Given the description of an element on the screen output the (x, y) to click on. 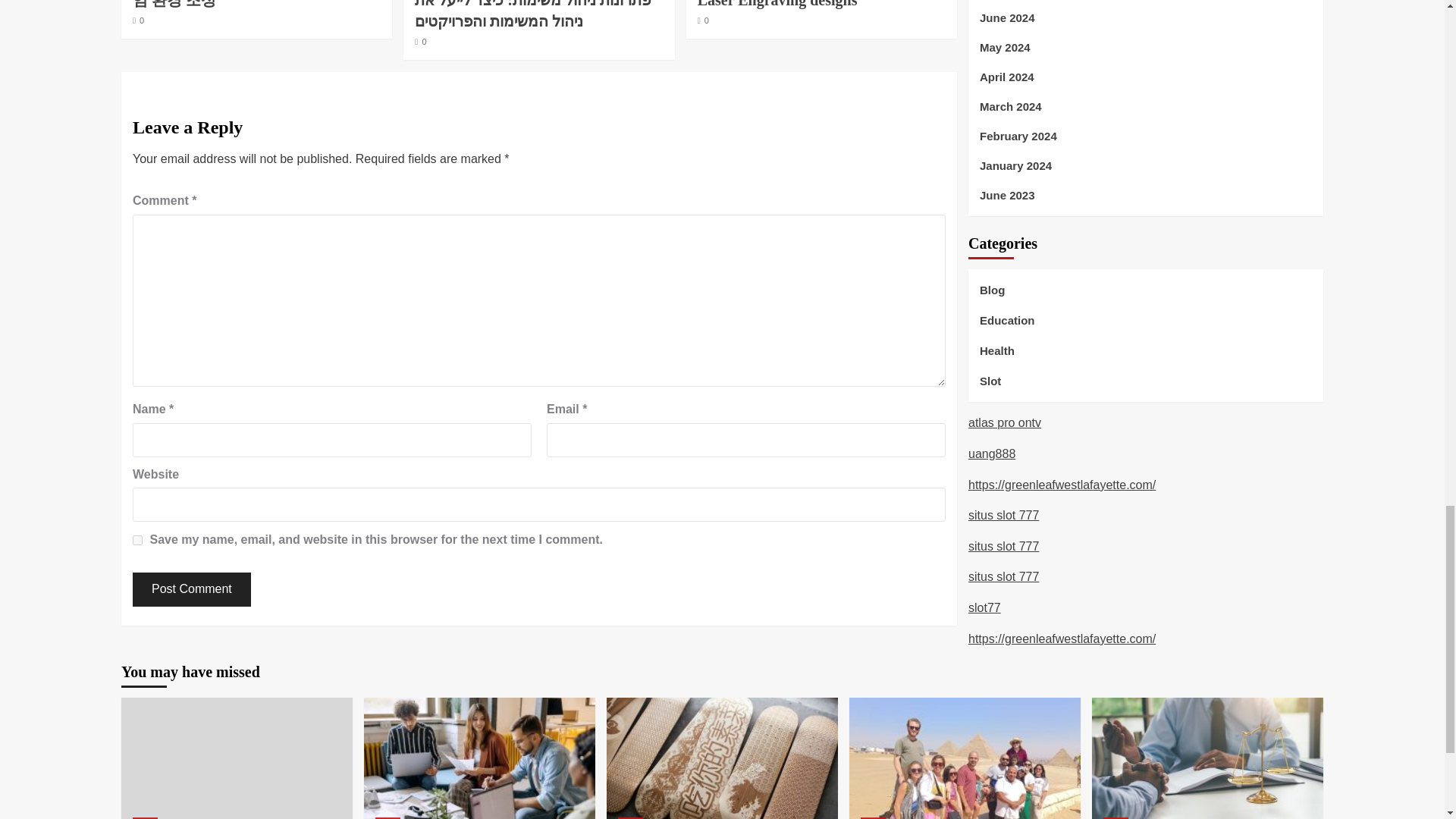
Transforming Designs with Expert Laser Engraving designs (809, 4)
0 (420, 40)
0 (138, 20)
0 (703, 20)
Post Comment (191, 589)
yes (137, 540)
Post Comment (191, 589)
